Given the description of an element on the screen output the (x, y) to click on. 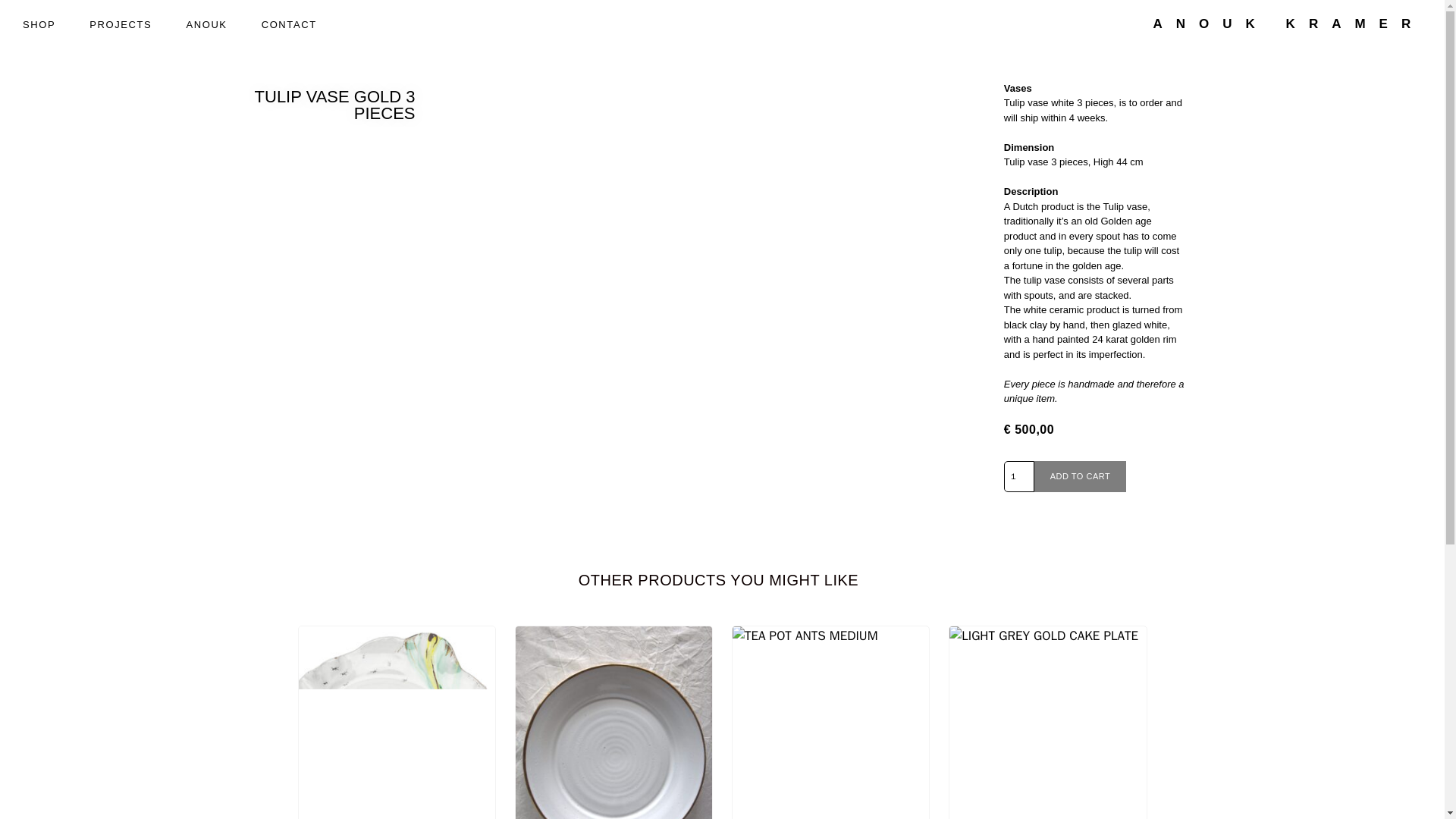
PROJECTS (120, 25)
SHOP (38, 25)
ANOUK (205, 25)
CONTACT (288, 25)
1 (1018, 476)
